Given the description of an element on the screen output the (x, y) to click on. 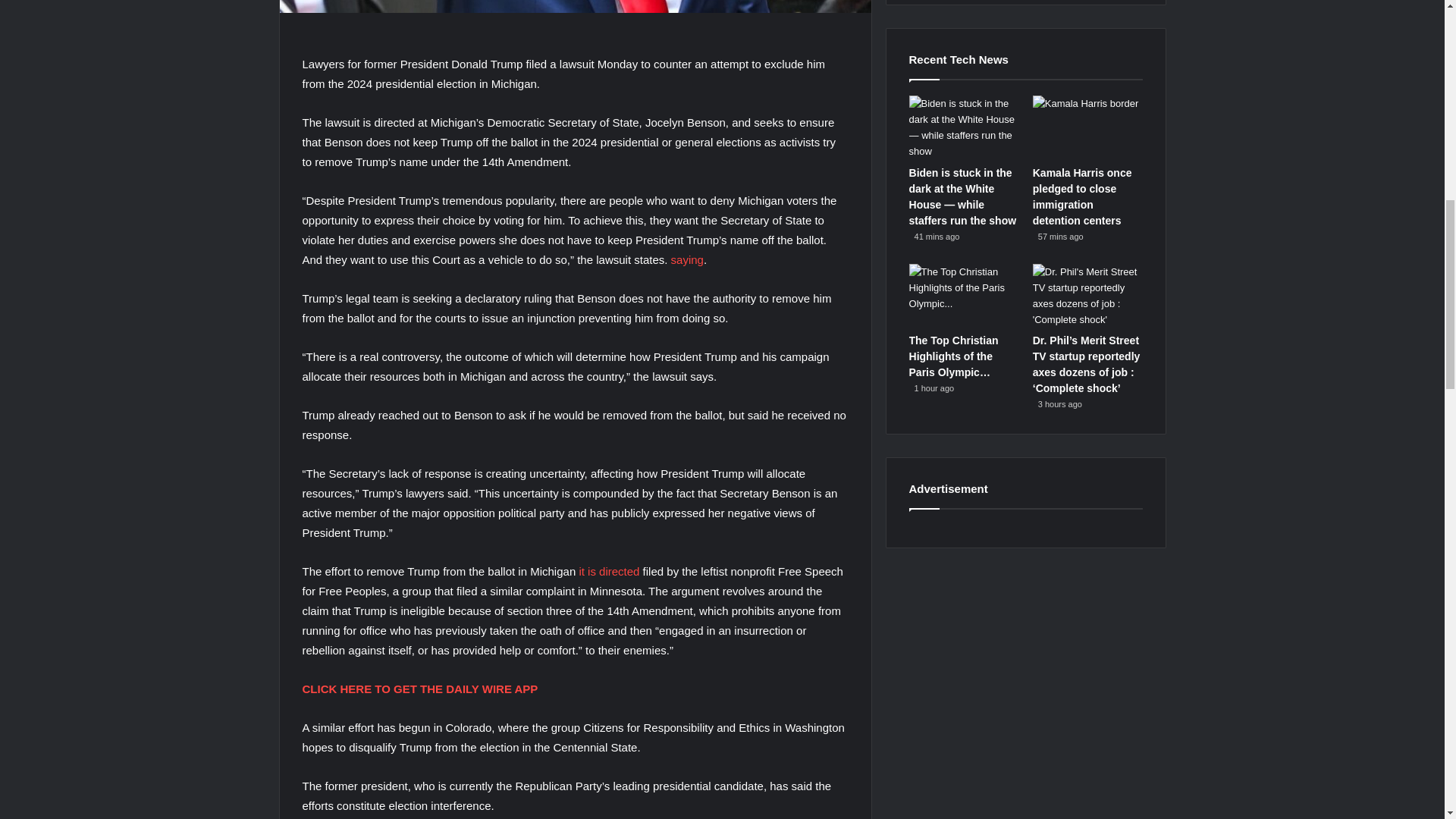
it is directed (608, 571)
saying (687, 259)
CLICK HERE TO GET THE DAILY WIRE APP (419, 688)
